Given the description of an element on the screen output the (x, y) to click on. 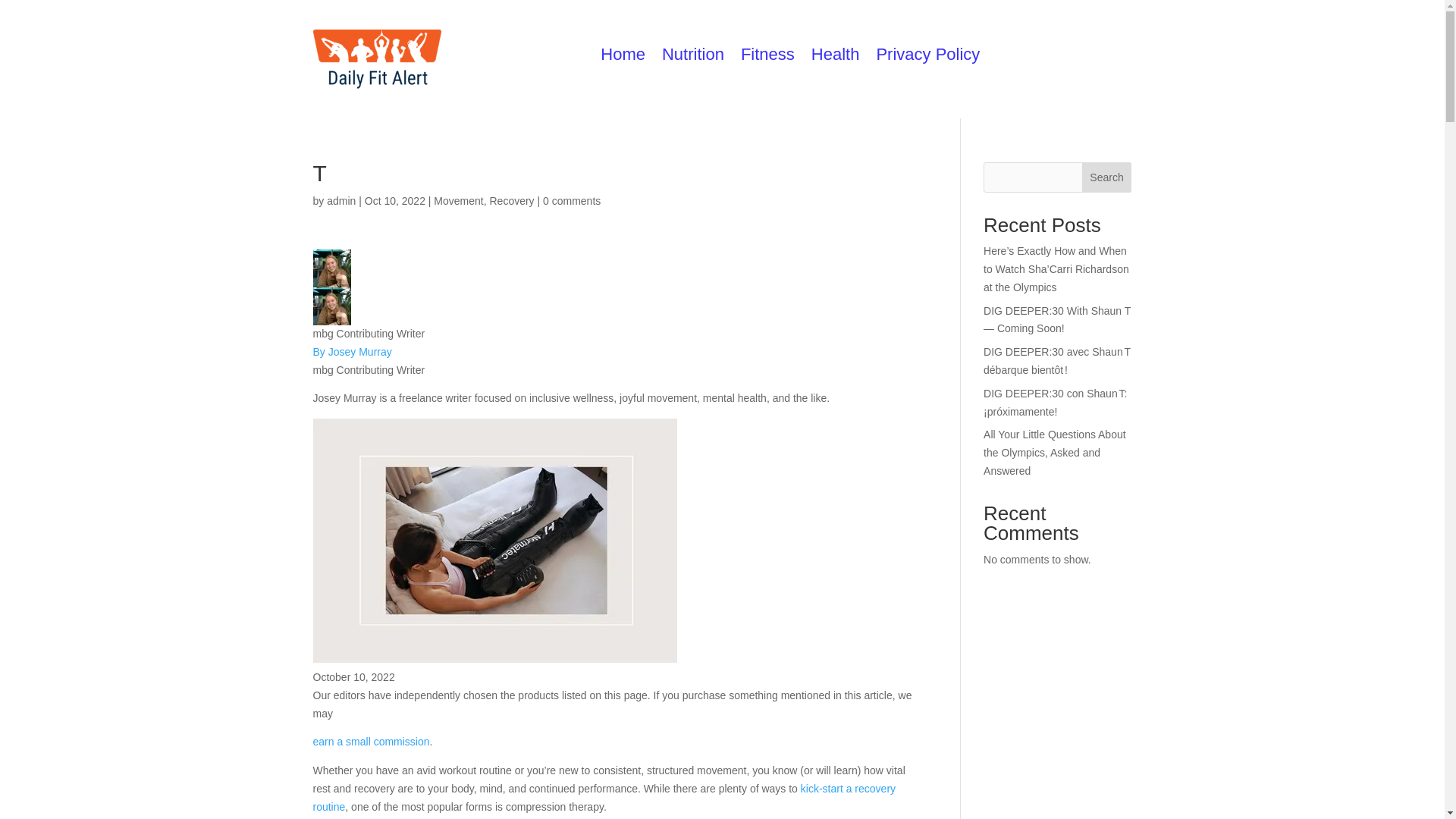
0 comments (571, 200)
By Josey Murray (352, 351)
earn a small commission (371, 741)
admin (340, 200)
normatec image women wearing boots in treatment (495, 540)
Privacy Policy (927, 57)
Josey Murray (331, 306)
Recovery (511, 200)
Health (835, 57)
mindbodygreen Affiliate Disclosure page (371, 741)
Josey Murray (331, 268)
Posts by admin (340, 200)
kick-start a recovery routine (604, 797)
Nutrition (692, 57)
Home (622, 57)
